Given the description of an element on the screen output the (x, y) to click on. 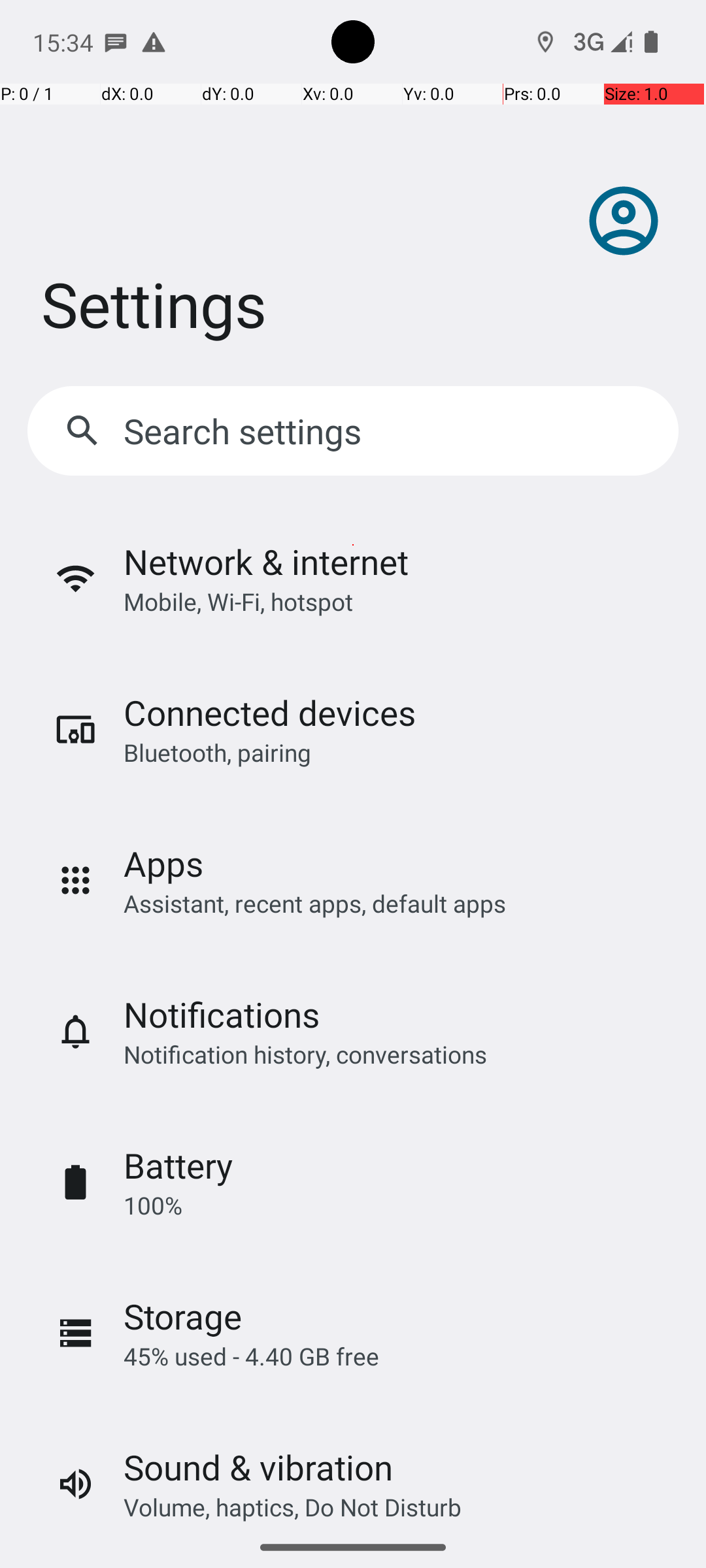
45% used - 4.40 GB free Element type: android.widget.TextView (251, 1355)
